Given the description of an element on the screen output the (x, y) to click on. 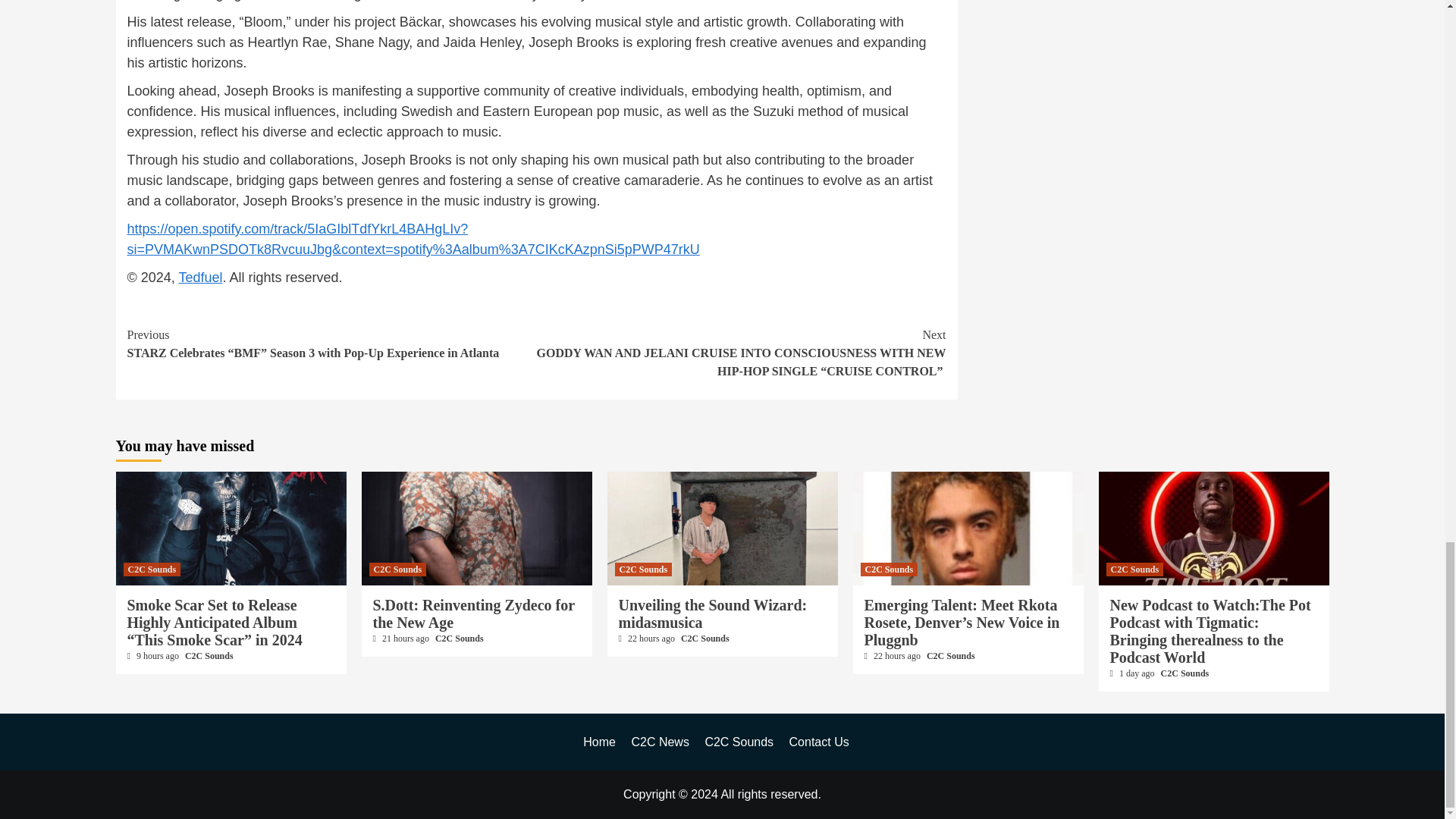
C2C Sounds (208, 655)
S.Dott: Reinventing Zydeco for the New Age (473, 613)
C2C Sounds (151, 569)
Tedfuel (199, 277)
Posts by Tedfuel (199, 277)
C2C Sounds (397, 569)
